Given the description of an element on the screen output the (x, y) to click on. 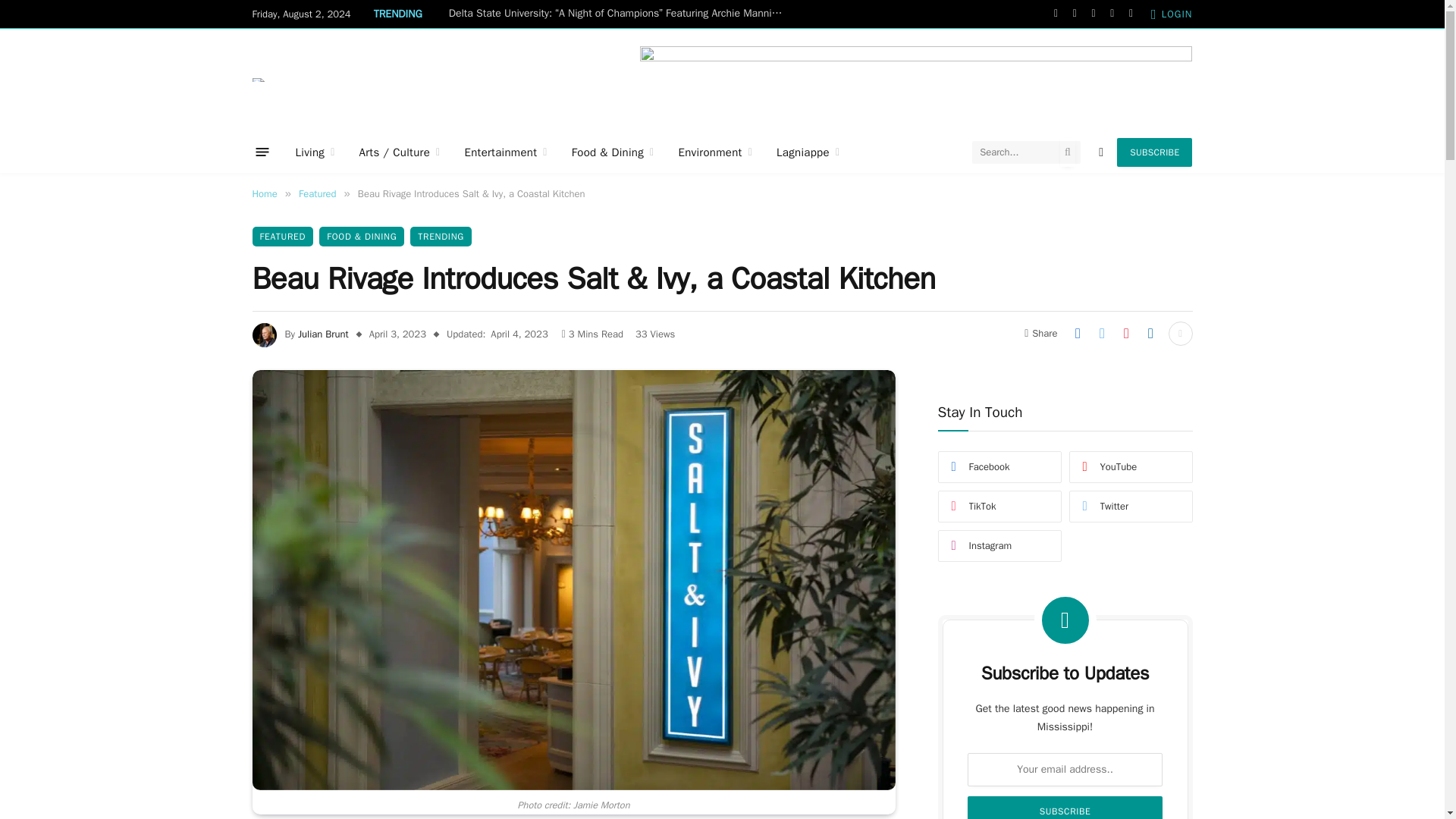
LOGIN (1171, 13)
Subscribe (1064, 807)
Living (315, 151)
